Given the description of an element on the screen output the (x, y) to click on. 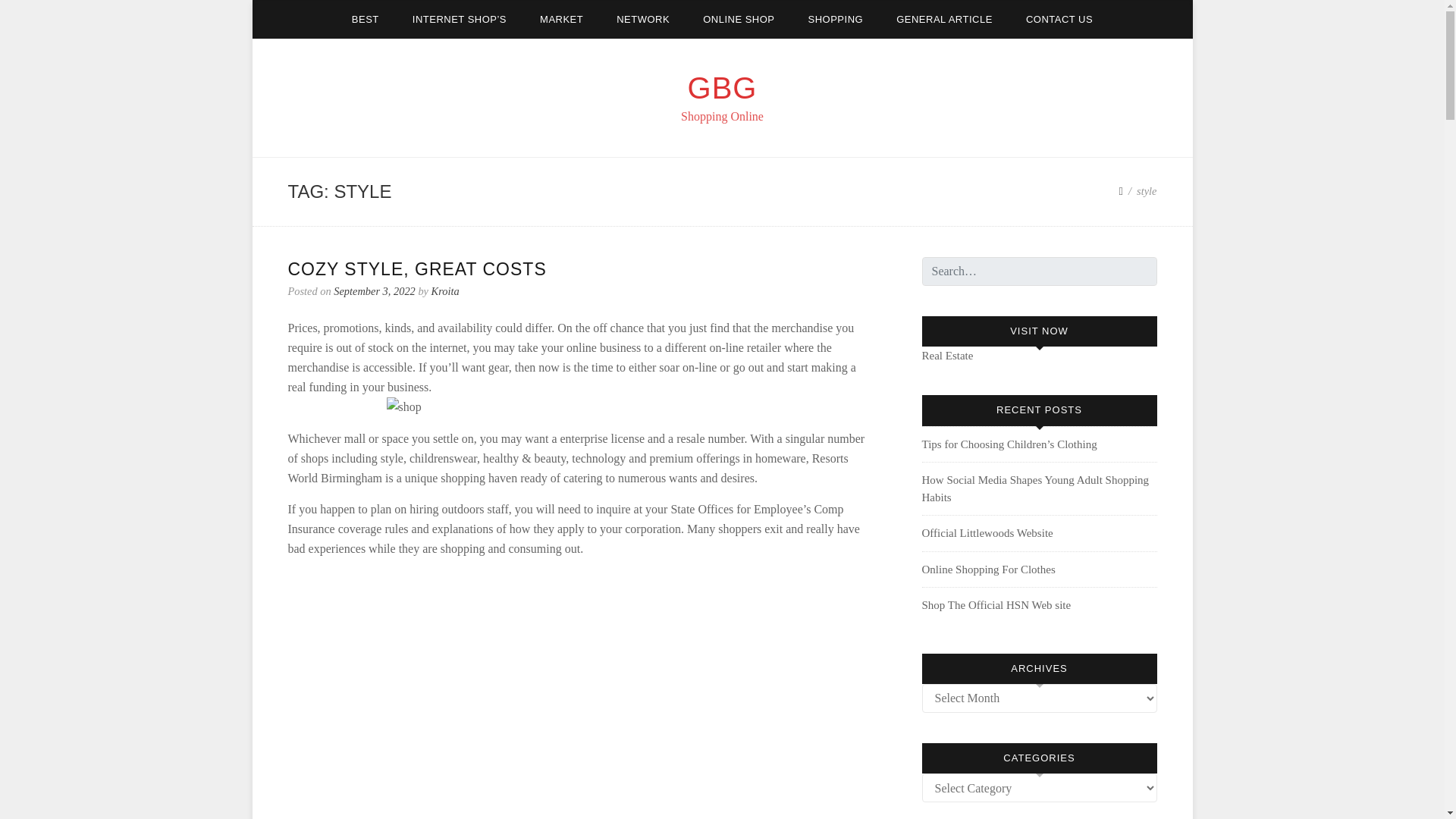
MARKET (561, 19)
CONTACT US (1059, 19)
SHOPPING (836, 19)
ONLINE SHOP (738, 19)
BEST (365, 19)
GENERAL ARTICLE (943, 19)
GBG (722, 87)
NETWORK (642, 19)
